Given the description of an element on the screen output the (x, y) to click on. 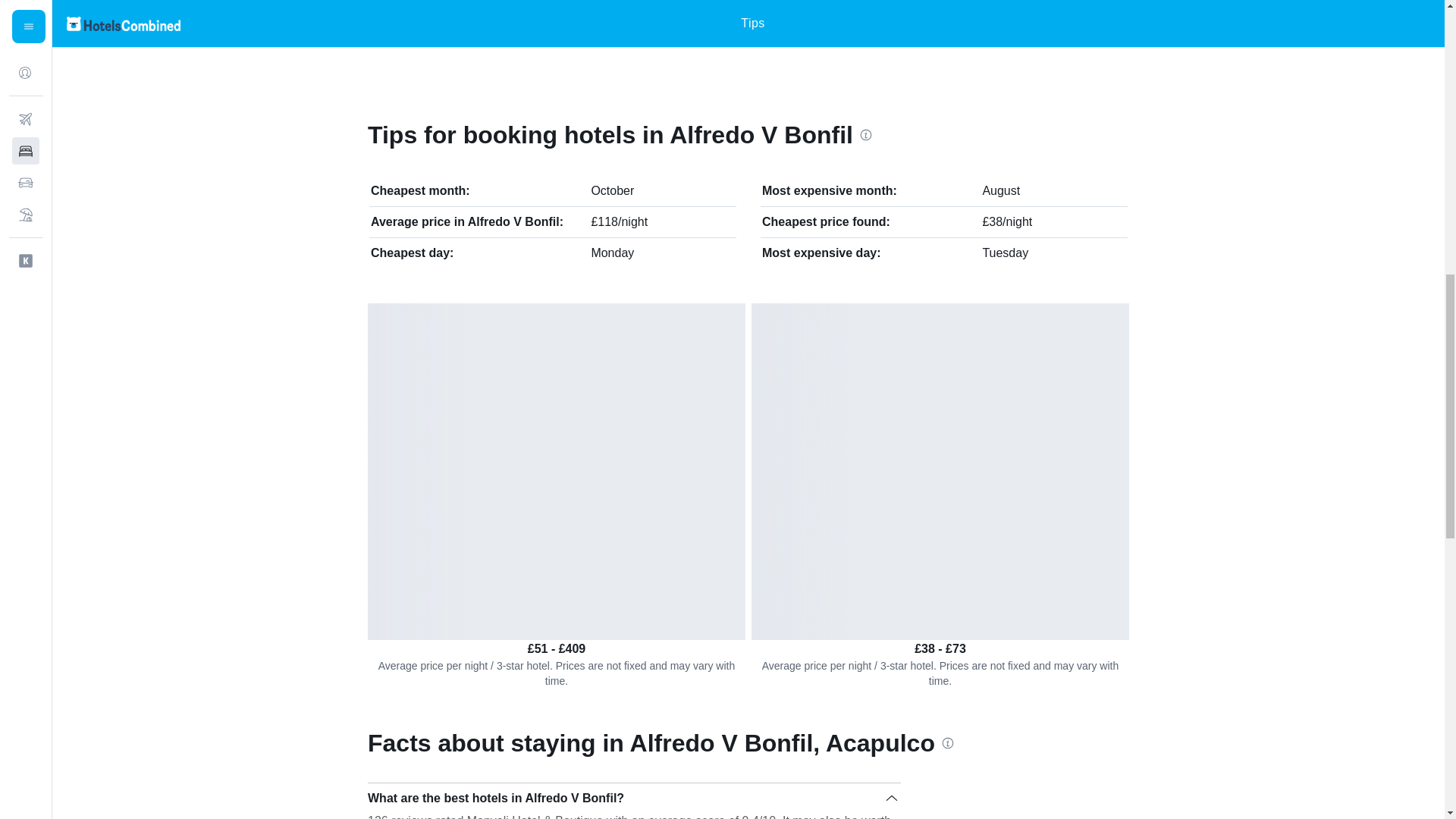
Monday (612, 252)
Acapulco Hotels (650, 22)
Guerrero Hotels (541, 22)
August (1000, 190)
October (612, 190)
Home (373, 22)
Tuesday (1004, 252)
Mexico Hotels (432, 22)
